Given the description of an element on the screen output the (x, y) to click on. 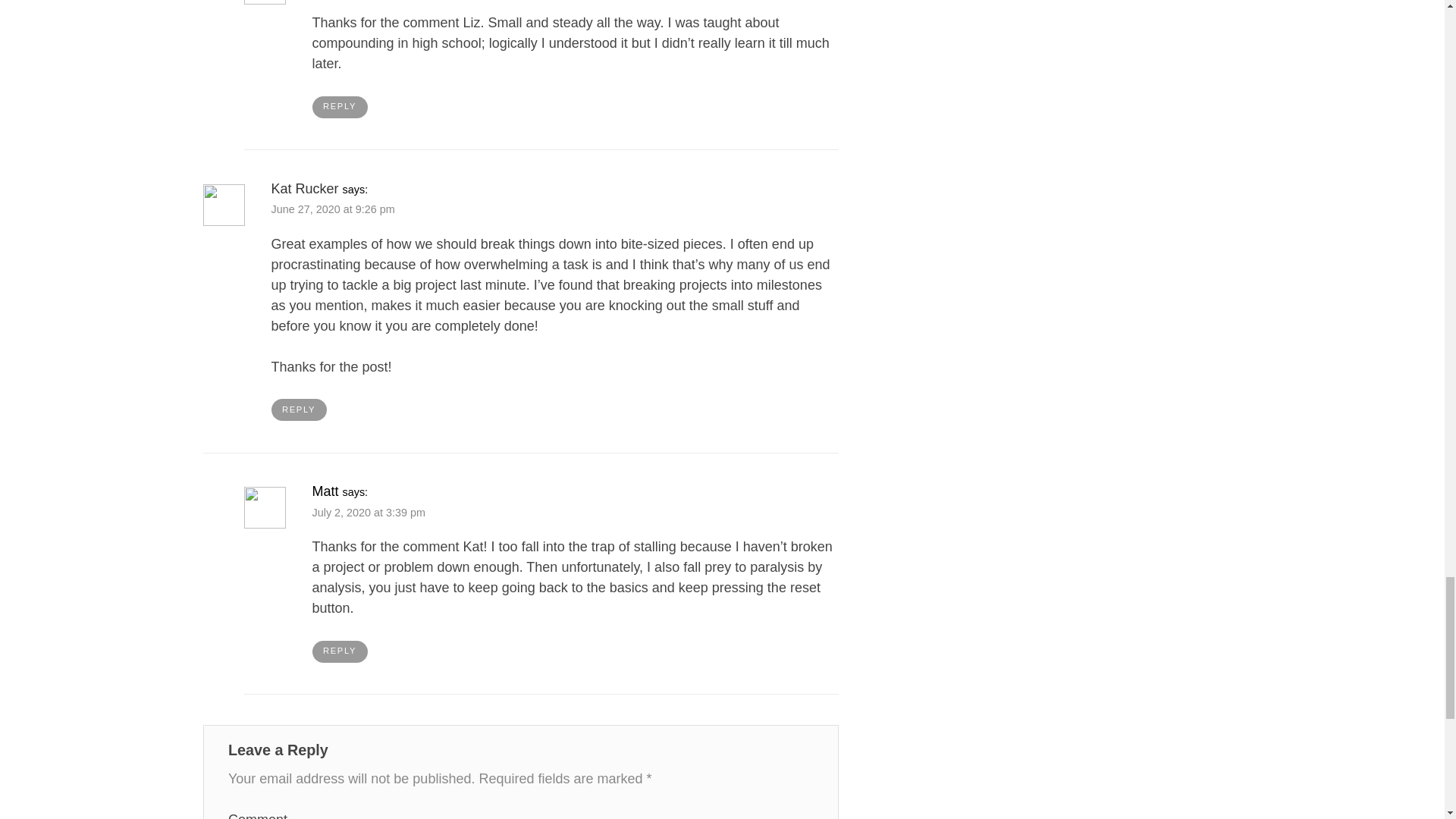
Kat Rucker (304, 188)
REPLY (340, 106)
June 27, 2020 at 9:26 pm (332, 209)
